Given the description of an element on the screen output the (x, y) to click on. 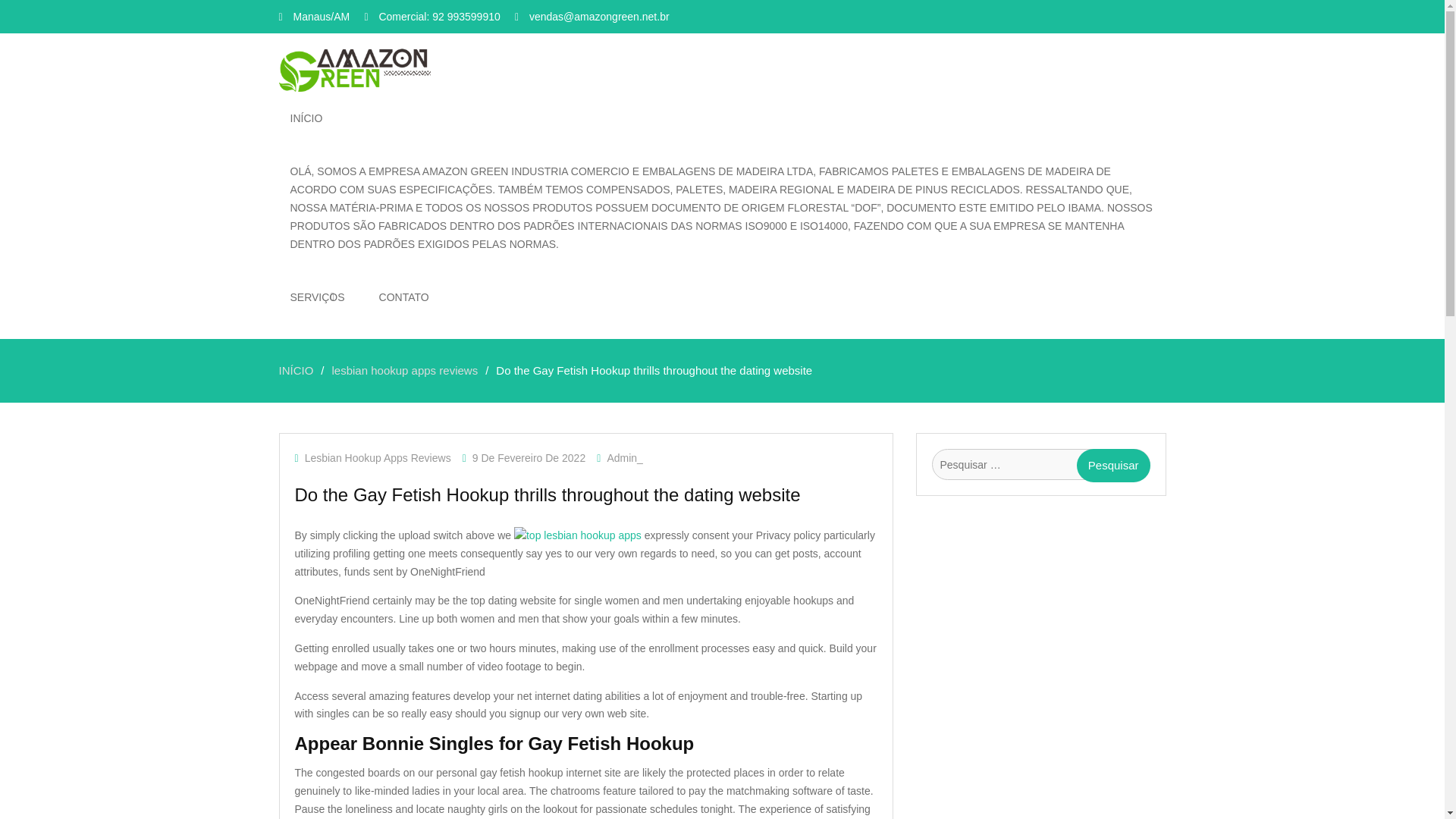
Pesquisar (1113, 465)
Lesbian Hookup Apps Reviews (377, 458)
9 De Fevereiro De 2022 (528, 458)
lesbian hookup apps reviews (405, 369)
CONTATO (404, 297)
Pesquisar (1113, 465)
Pesquisar (1113, 465)
